Given the description of an element on the screen output the (x, y) to click on. 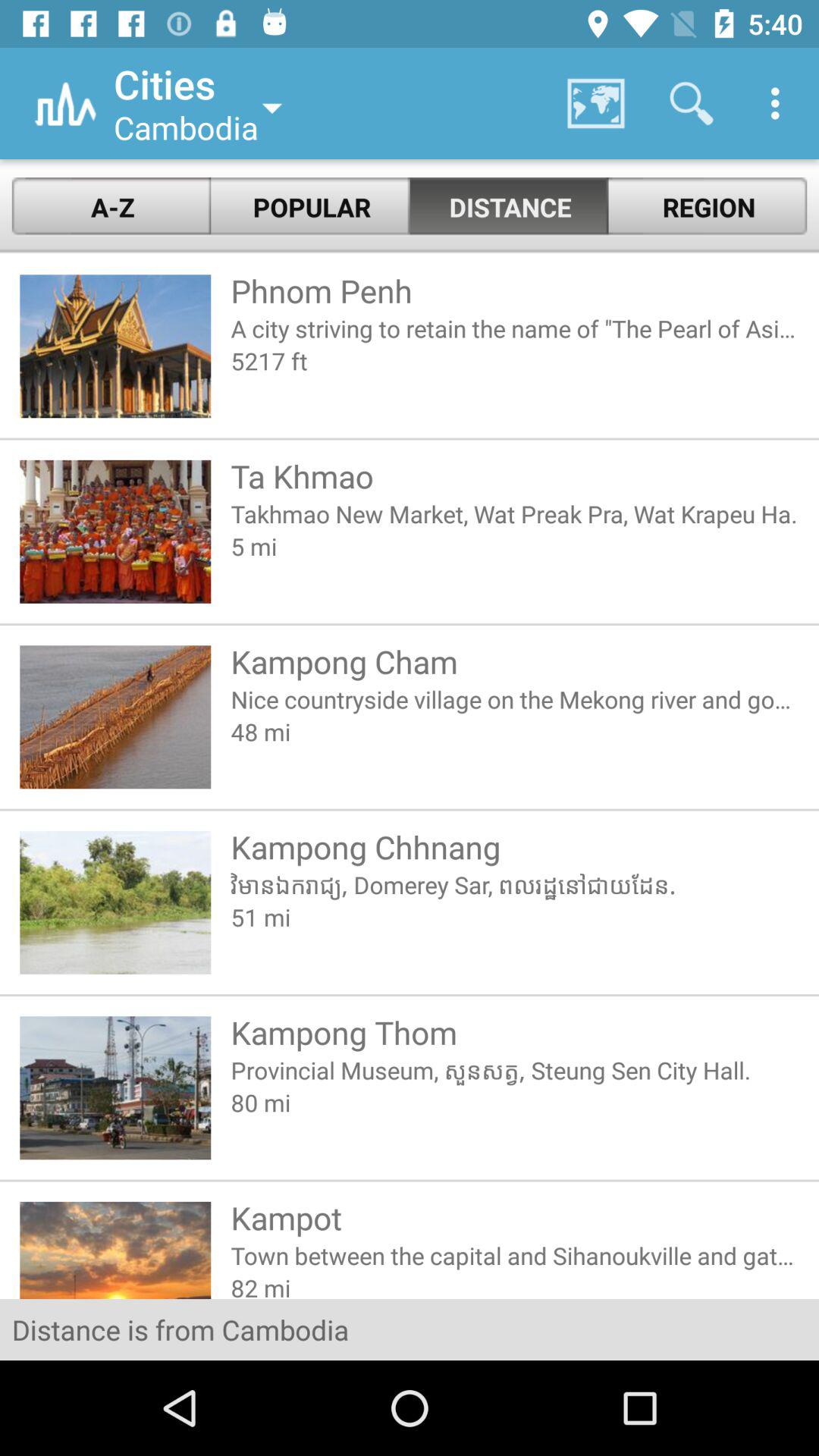
scroll until the a-z item (111, 206)
